Given the description of an element on the screen output the (x, y) to click on. 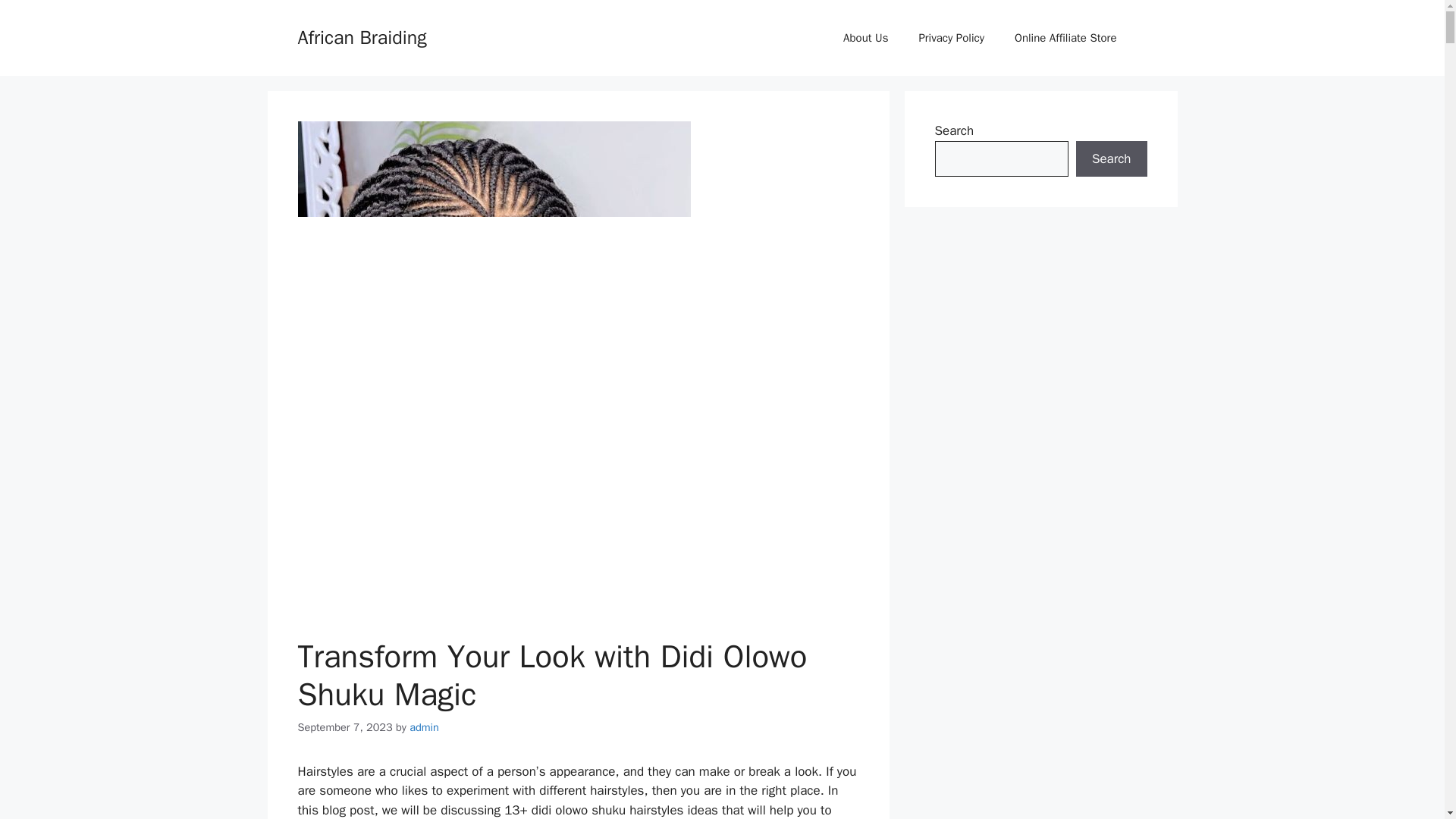
African Braiding (361, 37)
View all posts by admin (424, 726)
Privacy Policy (950, 37)
Search (1111, 158)
admin (424, 726)
About Us (865, 37)
Online Affiliate Store (1064, 37)
